Given the description of an element on the screen output the (x, y) to click on. 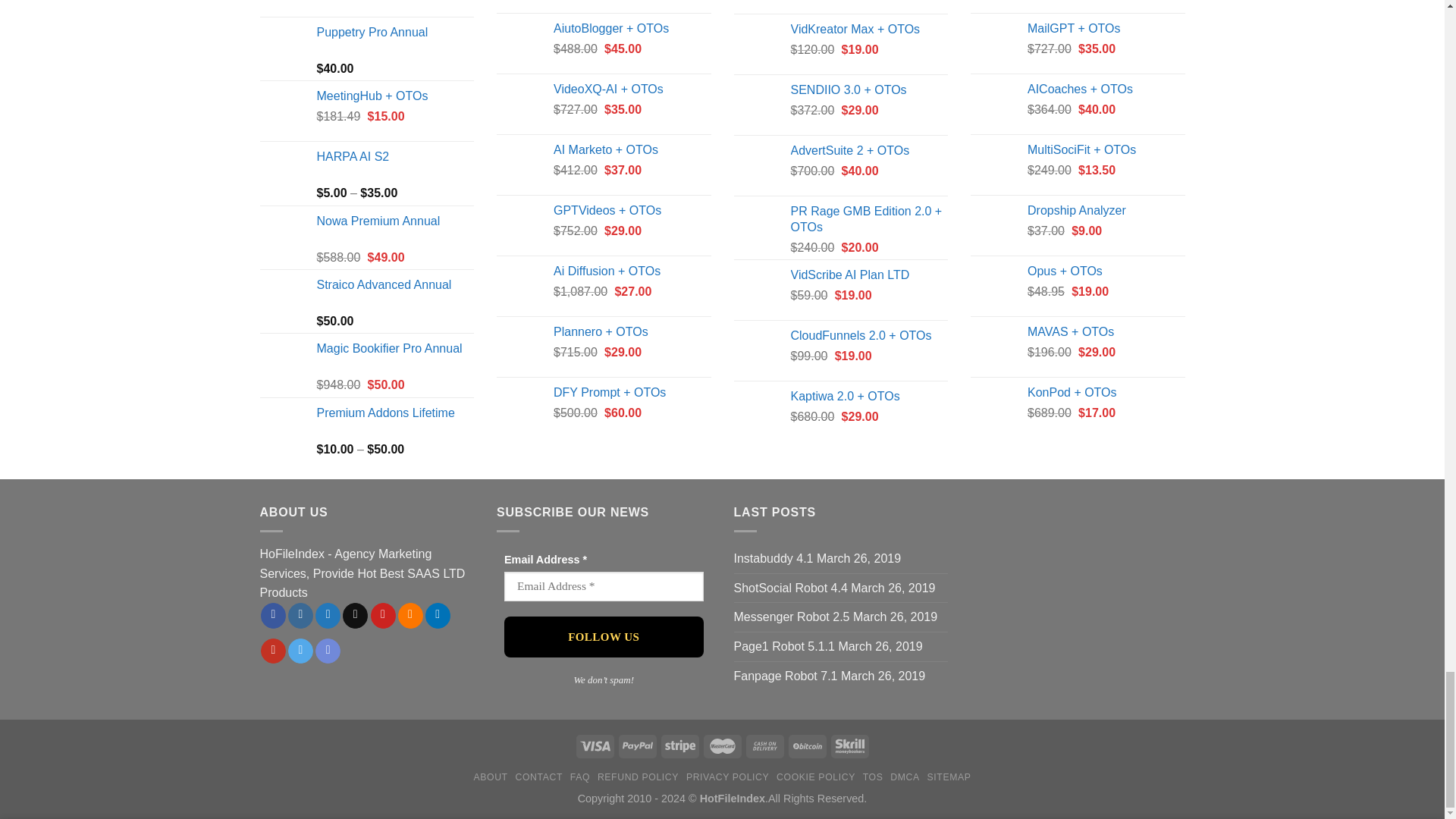
Follow US (603, 637)
